Given the description of an element on the screen output the (x, y) to click on. 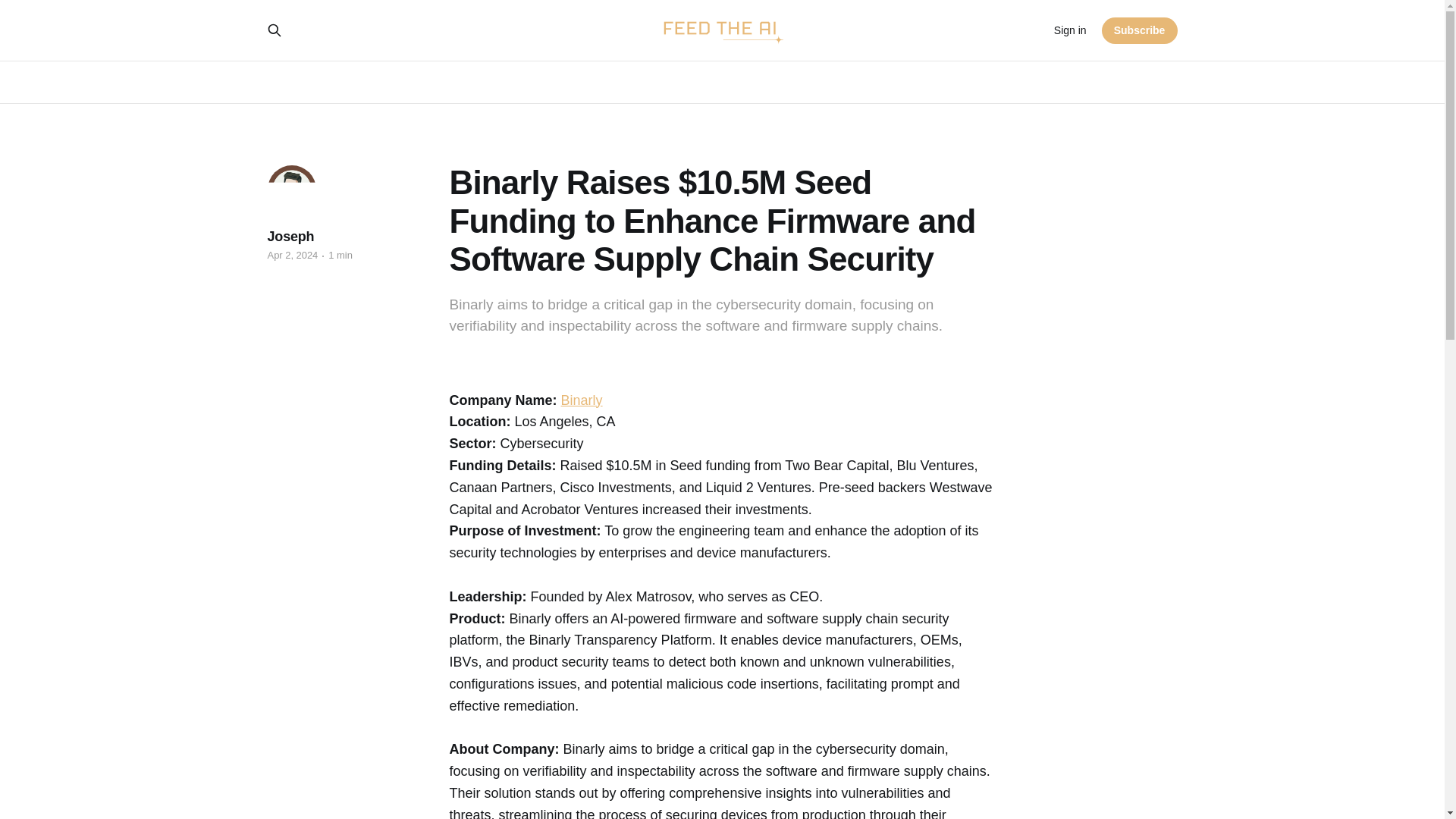
Joseph (290, 236)
Sign in (1070, 30)
Subscribe (1139, 29)
Binarly (581, 400)
